Given the description of an element on the screen output the (x, y) to click on. 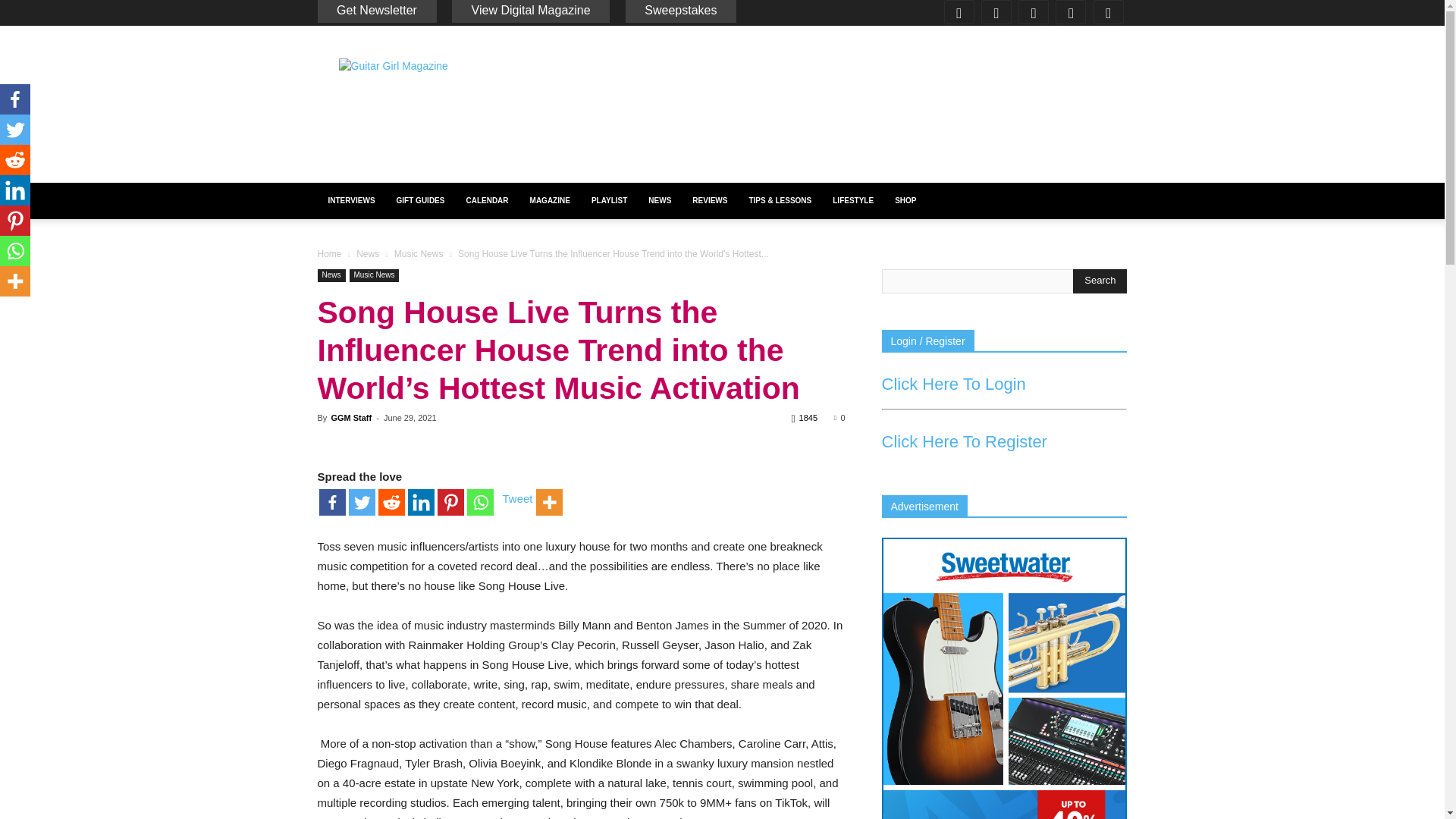
Pinterest (1034, 12)
Twitter (1072, 12)
Youtube (1109, 12)
Twitter (362, 501)
View all posts in Music News (419, 253)
Facebook (331, 501)
Search (1099, 281)
View all posts in News (367, 253)
Guitar Girl Magazine (445, 92)
Facebook (960, 12)
Instagram (997, 12)
